Given the description of an element on the screen output the (x, y) to click on. 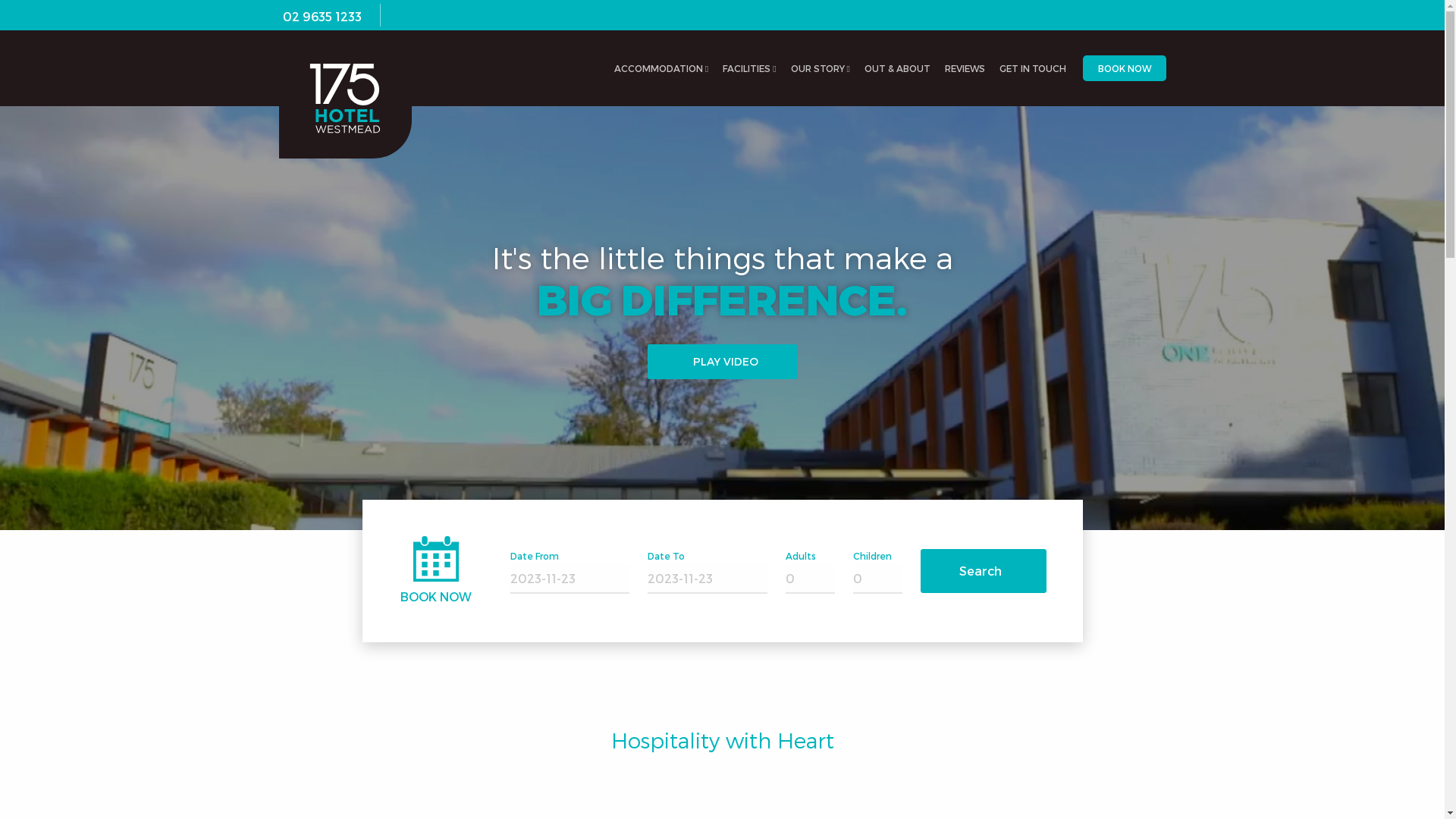
REVIEWS Element type: text (964, 68)
OUT & ABOUT Element type: text (896, 68)
GET IN TOUCH Element type: text (1032, 68)
BOOK NOW Element type: text (1124, 67)
Search Element type: text (983, 571)
02 9635 1233 Element type: text (321, 16)
FACILITIES Element type: text (749, 68)
ACCOMMODATION Element type: text (660, 68)
OUR STORY Element type: text (819, 68)
PLAY VIDEO Element type: text (722, 361)
